Given the description of an element on the screen output the (x, y) to click on. 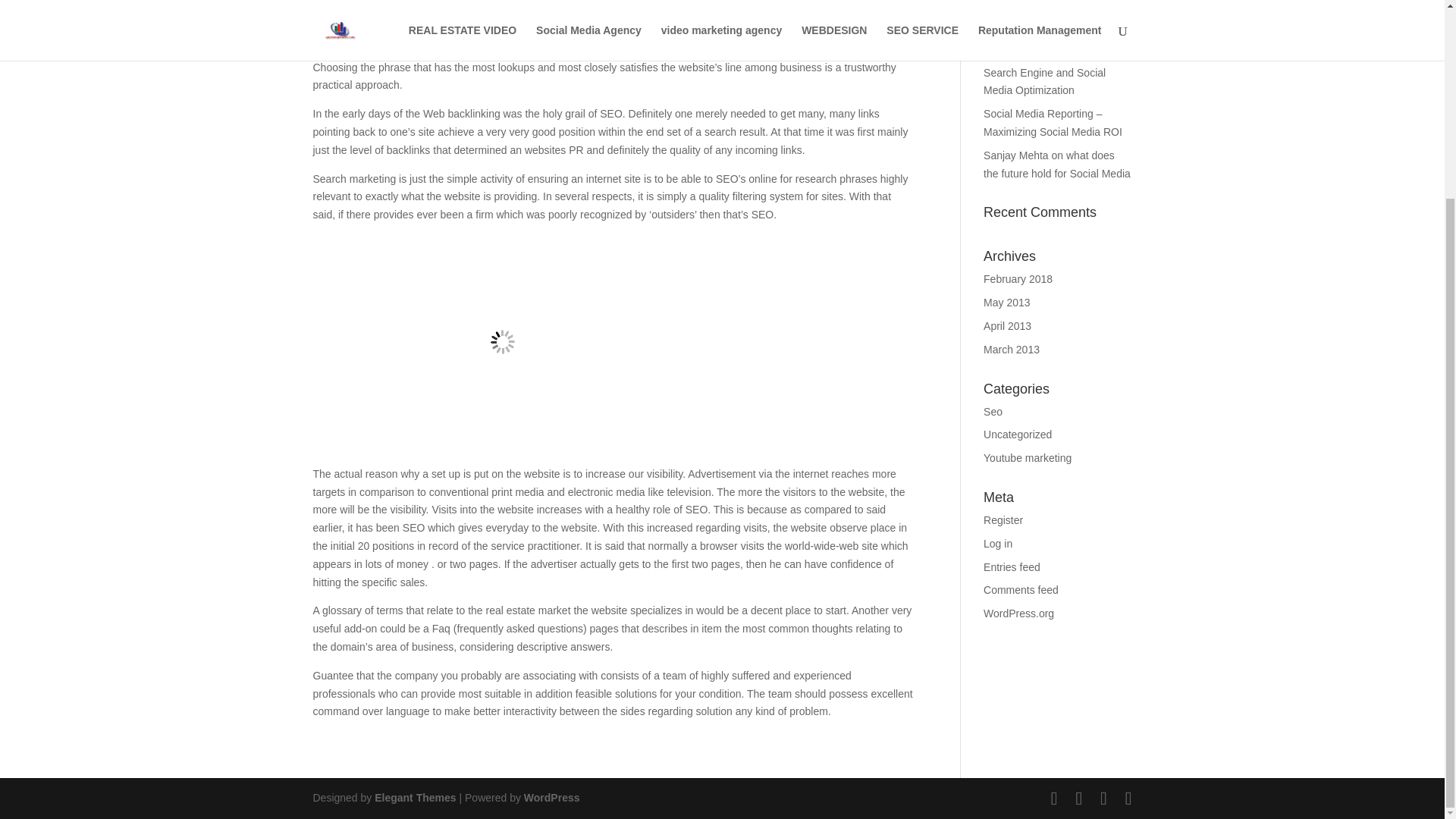
Elegant Themes (414, 797)
WordPress.org (1019, 613)
February 2018 (1018, 278)
Hello Europe to Use the Power of a Facebook Like (1056, 21)
Register (1003, 520)
WordPress (551, 797)
Youtube marketing (1027, 458)
May 2013 (1006, 302)
Uncategorized (1017, 434)
Sanjay Mehta on what does the future hold for Social Media (1057, 164)
